Given the description of an element on the screen output the (x, y) to click on. 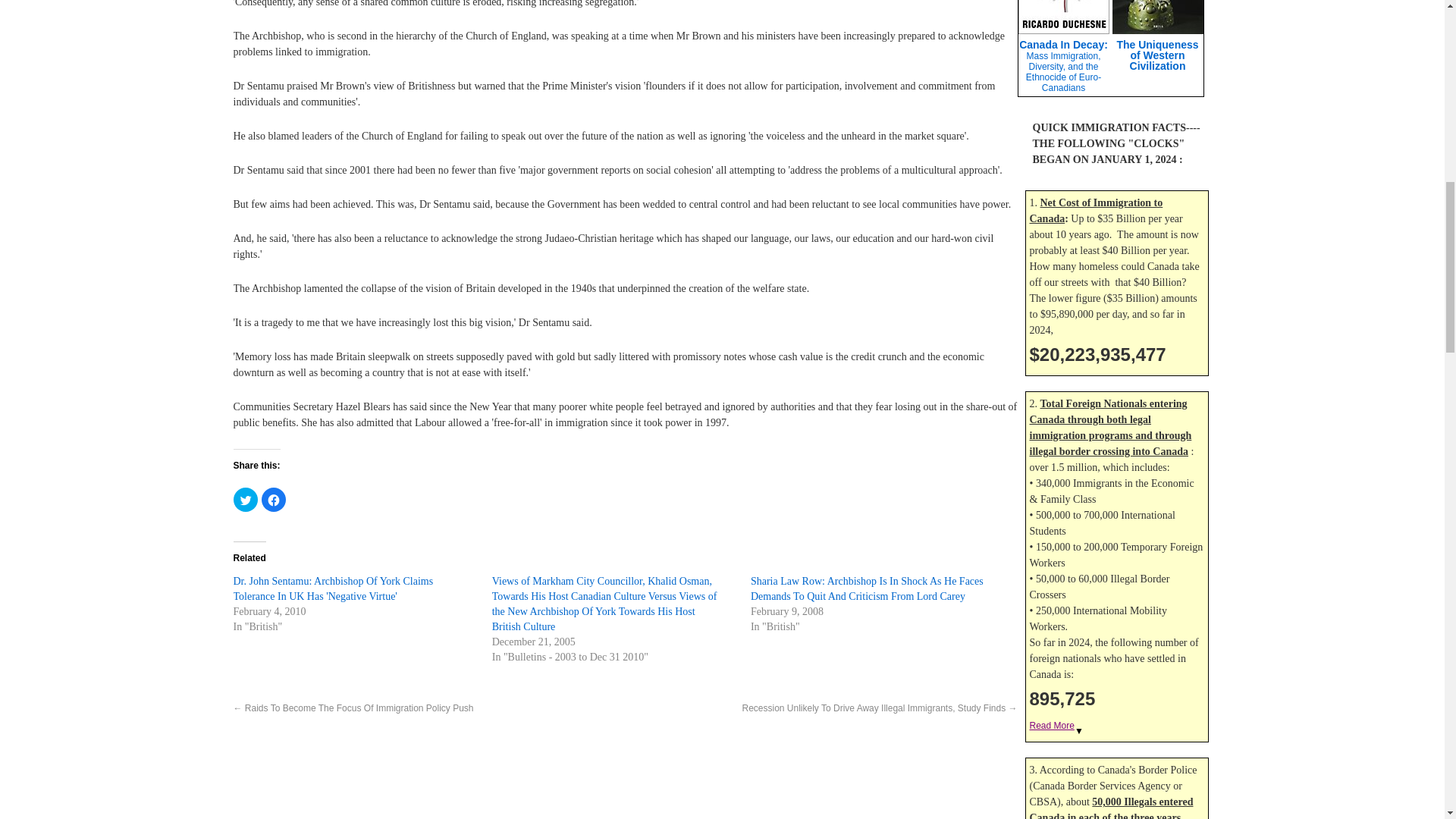
Click to share on Twitter (244, 499)
Click to share on Facebook (272, 499)
